Given the description of an element on the screen output the (x, y) to click on. 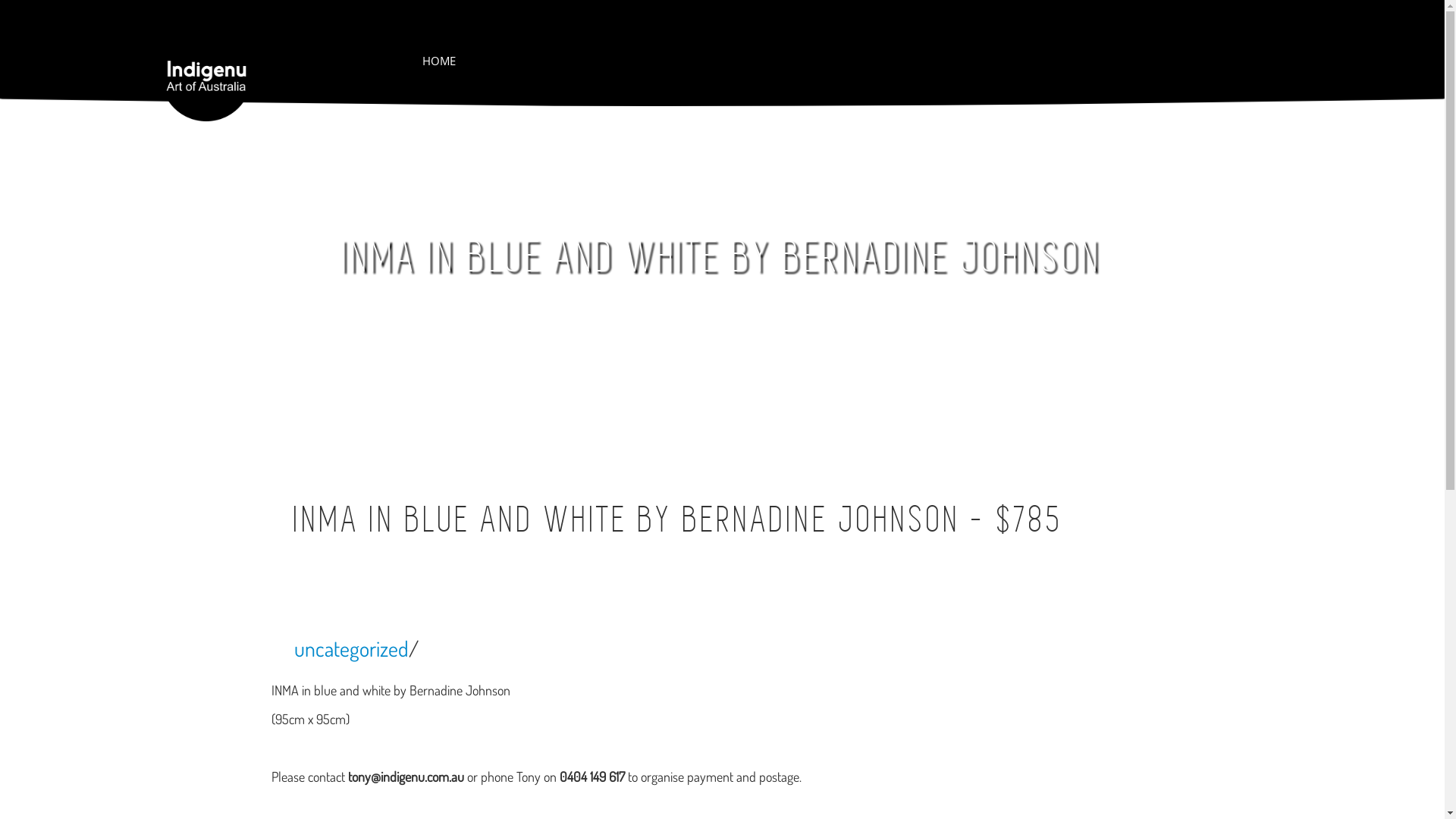
HOME Element type: text (438, 60)
uncategorized Element type: text (351, 648)
